Given the description of an element on the screen output the (x, y) to click on. 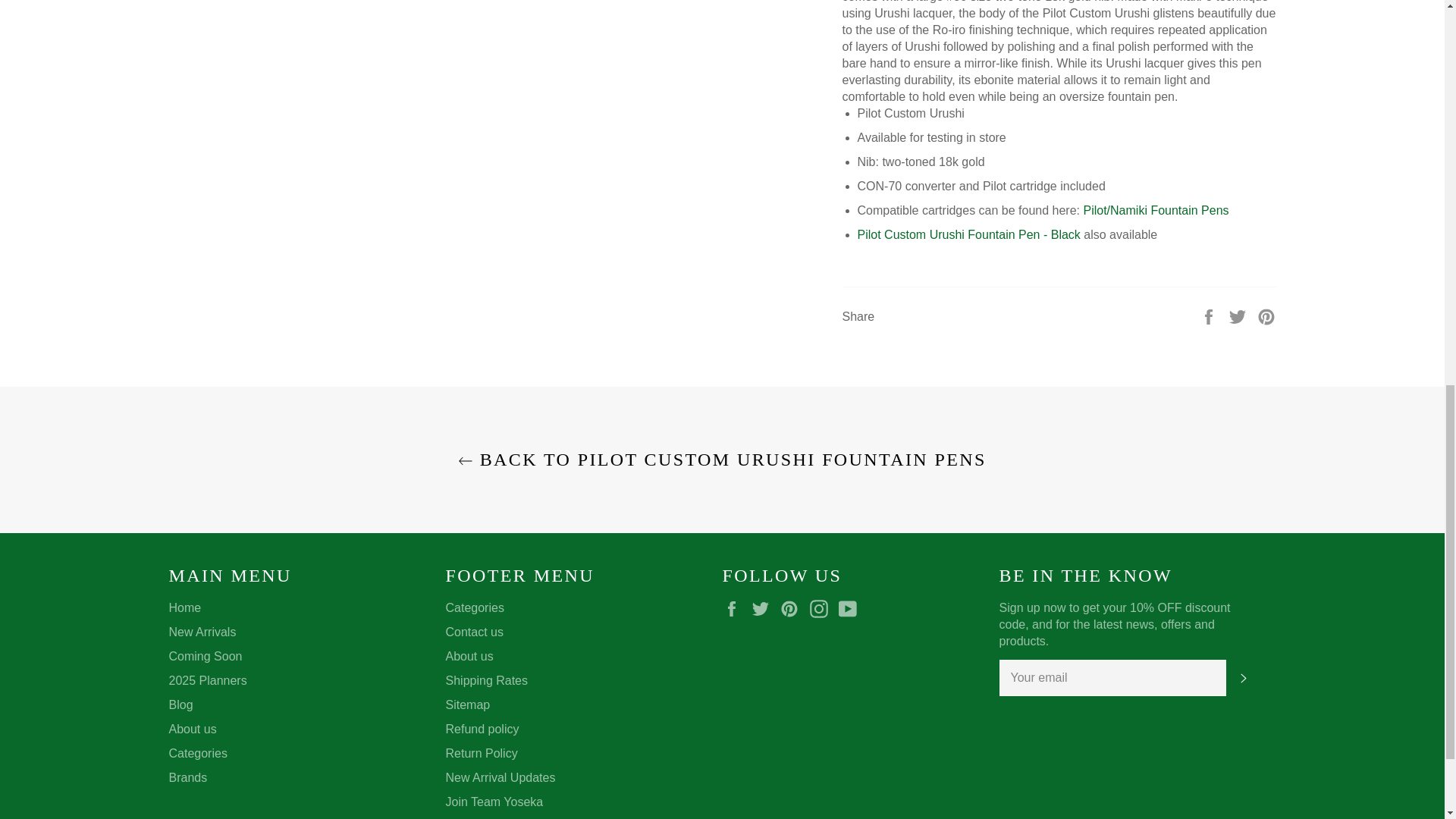
Yoseka Stationery on Instagram (822, 608)
Yoseka Stationery on Facebook (735, 608)
Yoseka Stationery on YouTube (851, 608)
Tweet on Twitter (1238, 315)
Yoseka Stationery on Twitter (764, 608)
Share on Facebook (1210, 315)
Yoseka Stationery on Pinterest (793, 608)
Pin on Pinterest (1266, 315)
